Given the description of an element on the screen output the (x, y) to click on. 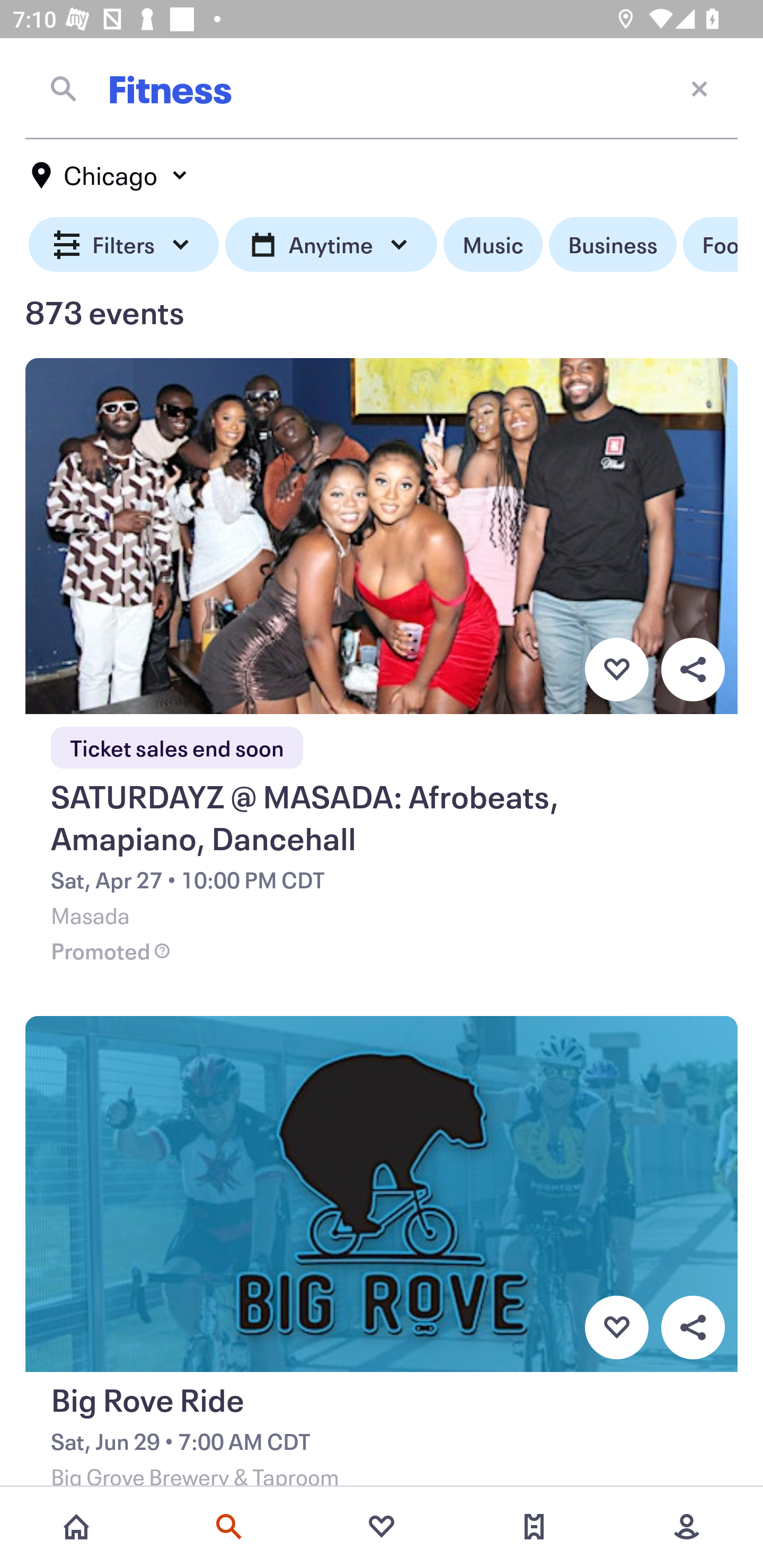
Fitness Close current screen (381, 88)
Close current screen (699, 88)
Chicago (110, 175)
Filters (123, 244)
Anytime (331, 244)
Music (492, 244)
Business (612, 244)
Favorite button (616, 669)
Overflow menu button (692, 669)
Favorite button (616, 1326)
Overflow menu button (692, 1326)
Home (76, 1526)
Search events (228, 1526)
Favorites (381, 1526)
Tickets (533, 1526)
More (686, 1526)
